Given the description of an element on the screen output the (x, y) to click on. 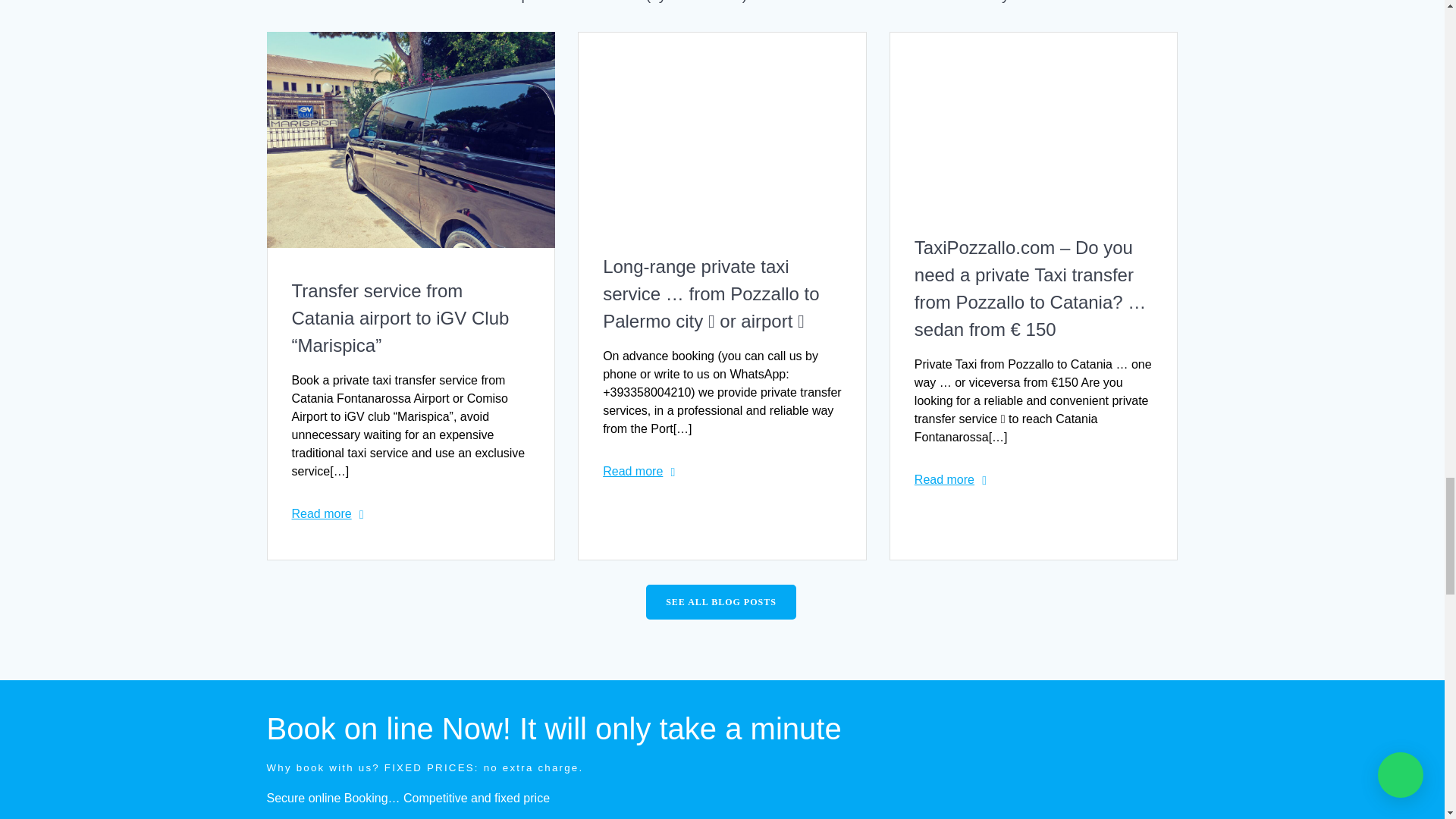
SEE ALL BLOG POSTS (721, 601)
Read more (632, 471)
Read more (944, 479)
Read more (322, 514)
